Given the description of an element on the screen output the (x, y) to click on. 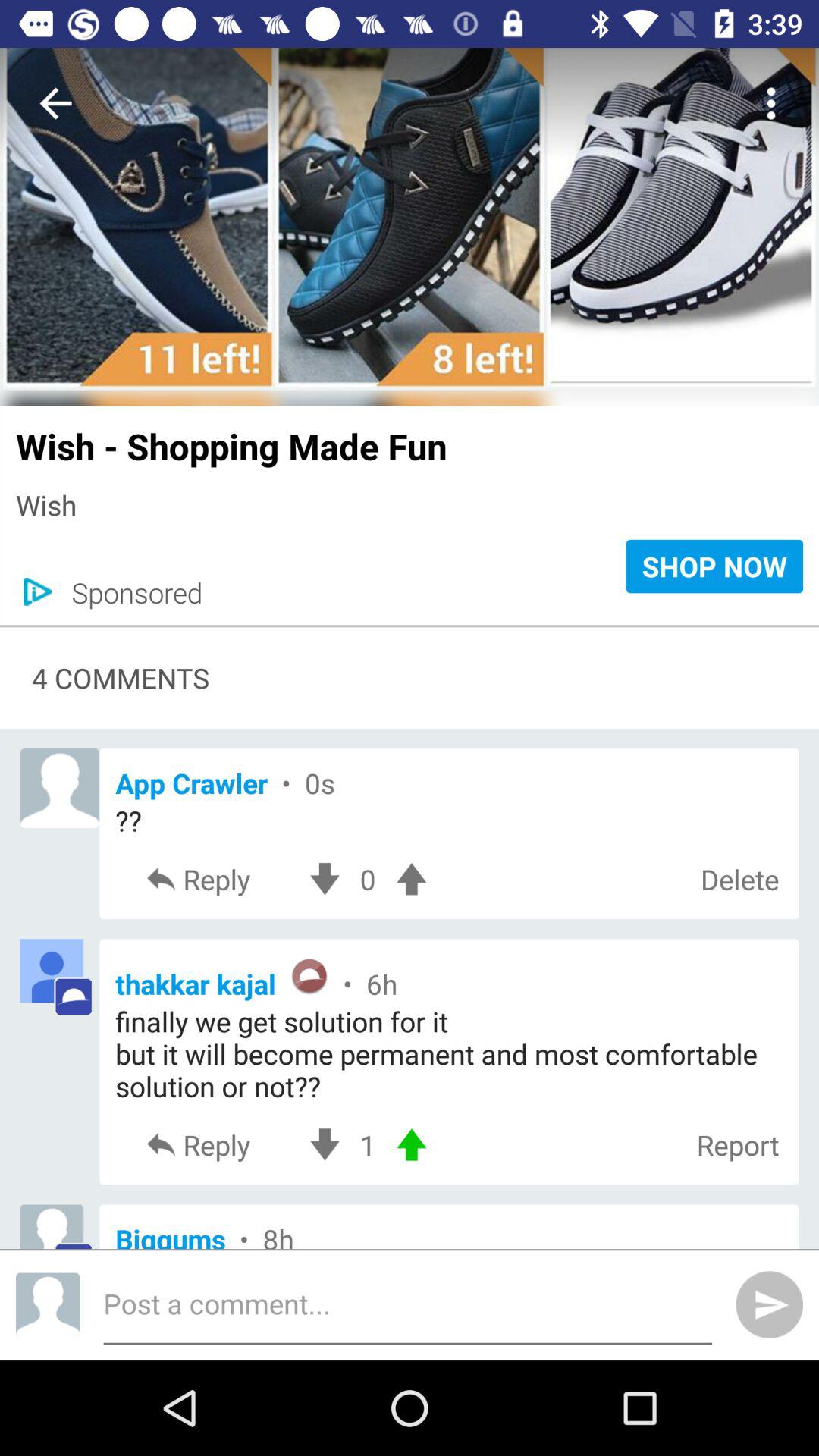
scroll to wish shopping made icon (409, 438)
